Given the description of an element on the screen output the (x, y) to click on. 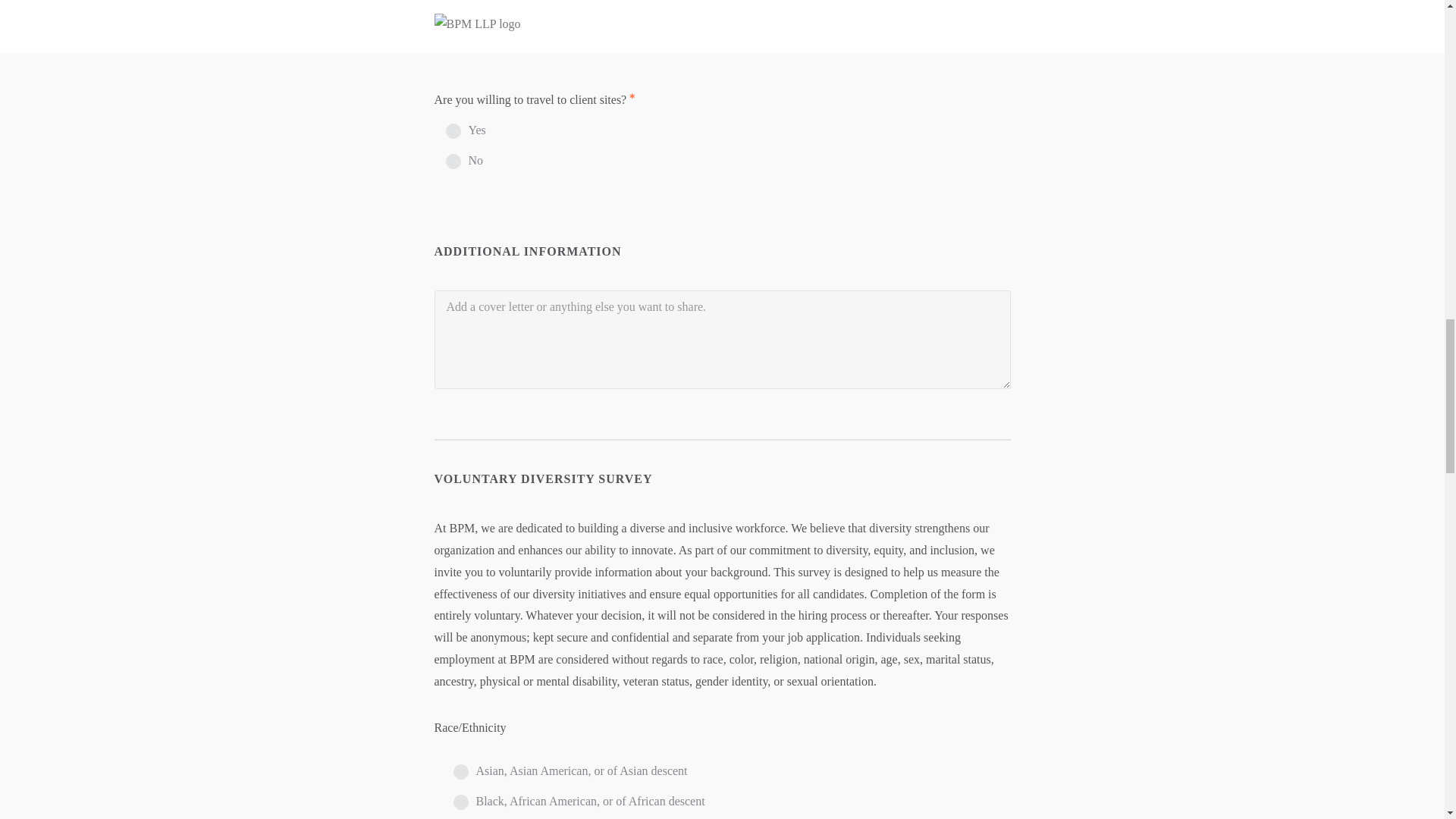
Black, African American, or of African descent (460, 801)
No (453, 160)
Asian, Asian American, or of Asian descent (460, 771)
Yes (453, 130)
